Given the description of an element on the screen output the (x, y) to click on. 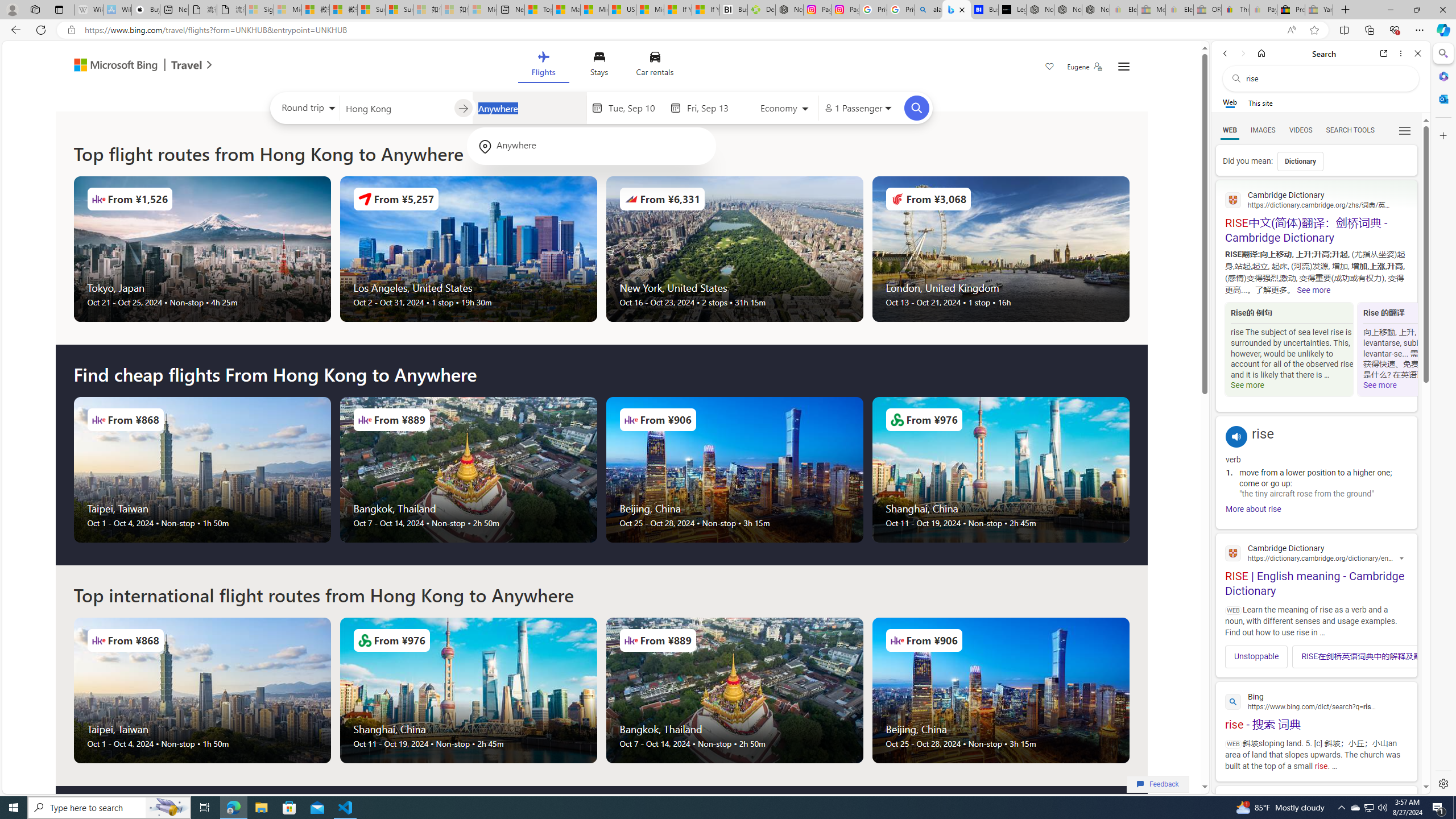
Class: trvl-hub-header nofilter (601, 65)
Class: msft-travel-logo (186, 64)
Select trip type (305, 110)
